Given the description of an element on the screen output the (x, y) to click on. 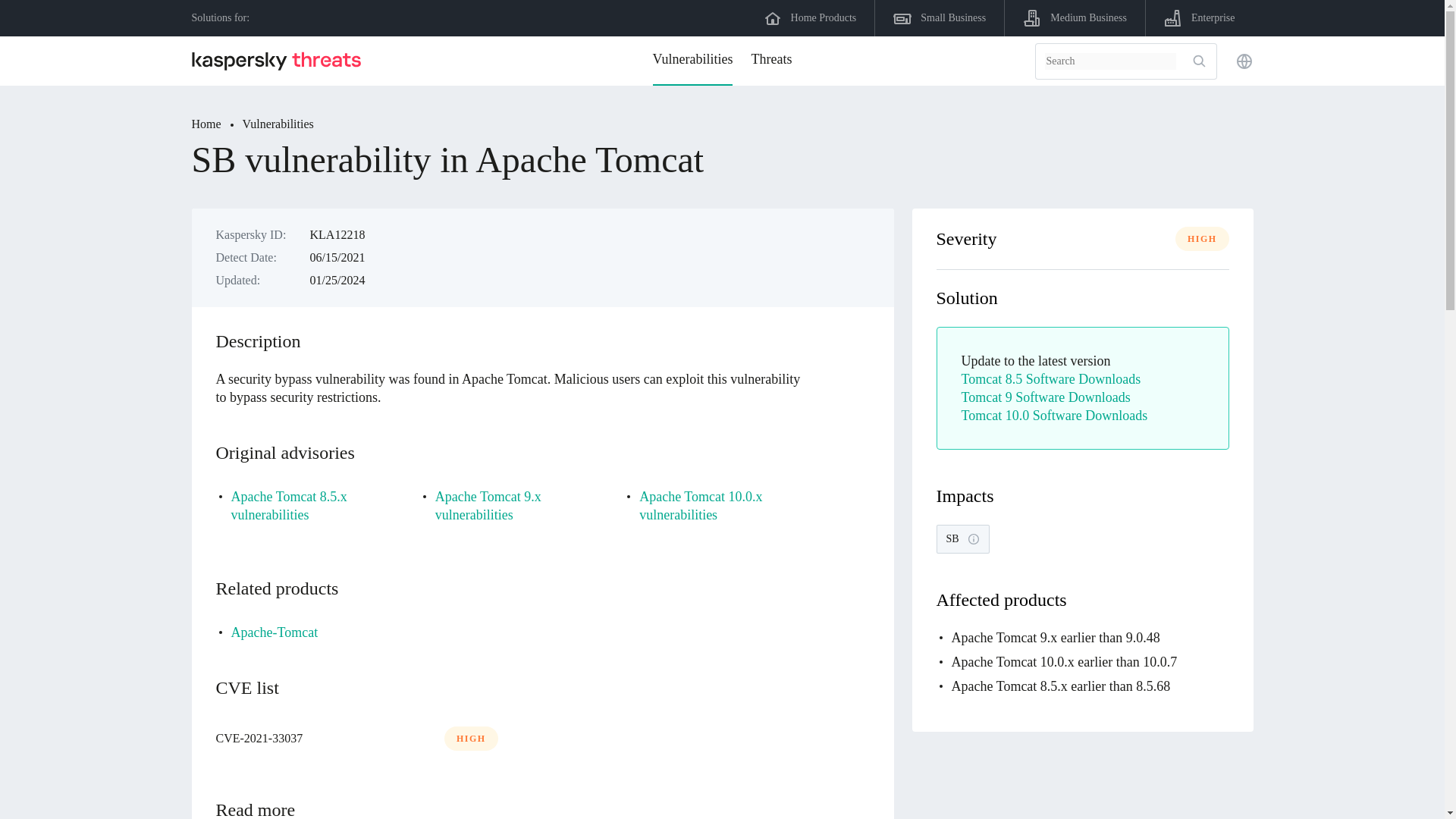
Medium Business (1074, 18)
Enterprise (1199, 18)
Apache-Tomcat (273, 632)
Small Business (939, 18)
Tomcat 10.0 Software Downloads (1054, 415)
Tomcat 8.5 Software Downloads (1050, 379)
Home page (281, 60)
Tomcat 9 Software Downloads (1045, 397)
Vulnerabilities (692, 60)
Apache Tomcat 8.5.x vulnerabilities (312, 505)
Home Products (810, 18)
Apache Tomcat 9.x vulnerabilities (517, 505)
Vulnerabilities (278, 124)
Home (215, 124)
Apache Tomcat 10.0.x vulnerabilities (721, 505)
